Given the description of an element on the screen output the (x, y) to click on. 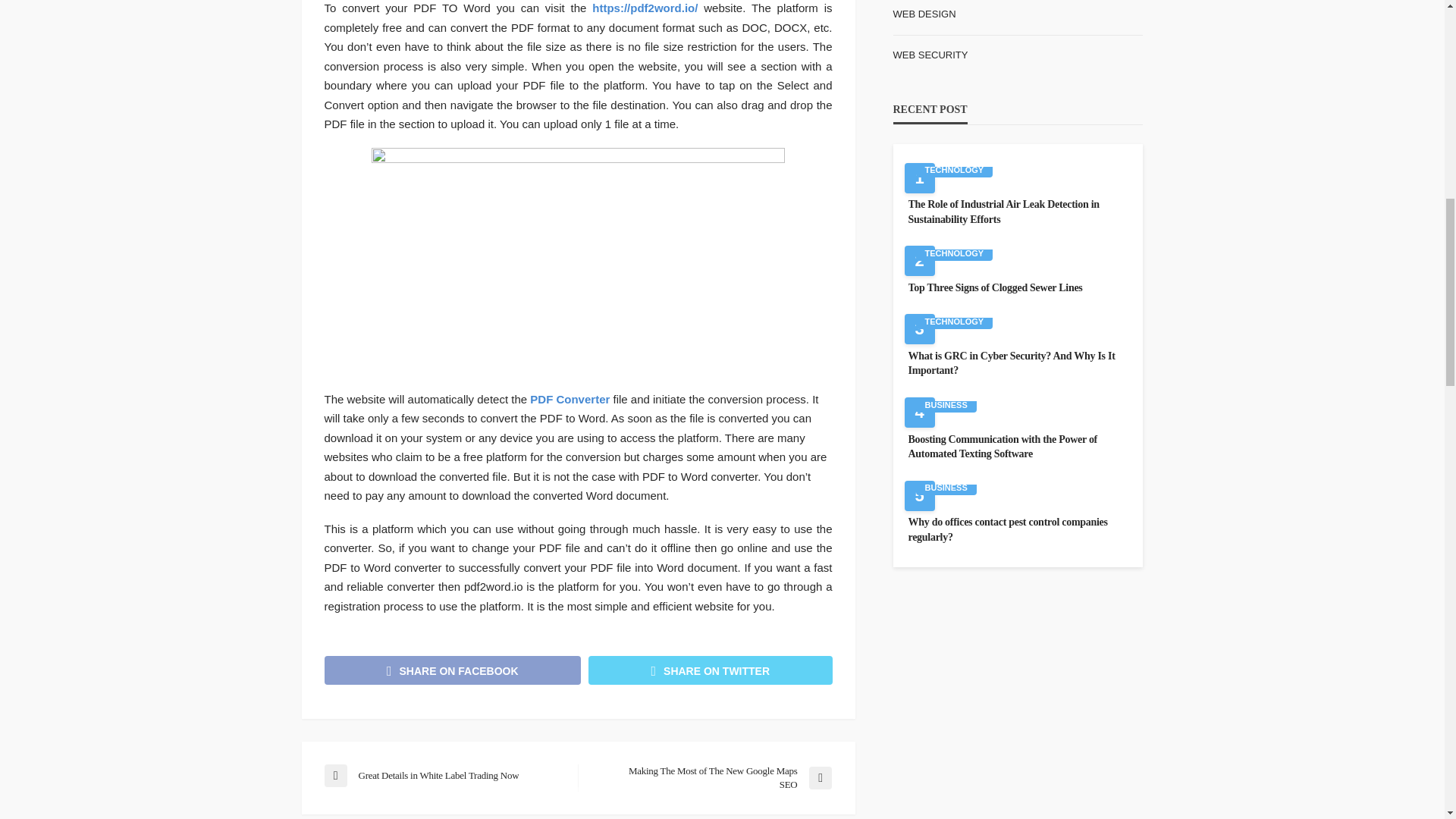
Making The Most of The New Google Maps SEO (711, 777)
Great Details in White Label Trading Now (443, 775)
PDF Converter (569, 399)
Making The Most of The New Google Maps SEO (711, 777)
SHARE ON FACEBOOK (452, 669)
Great Details in White Label Trading Now (443, 775)
SHARE ON TWITTER (709, 669)
